Given the description of an element on the screen output the (x, y) to click on. 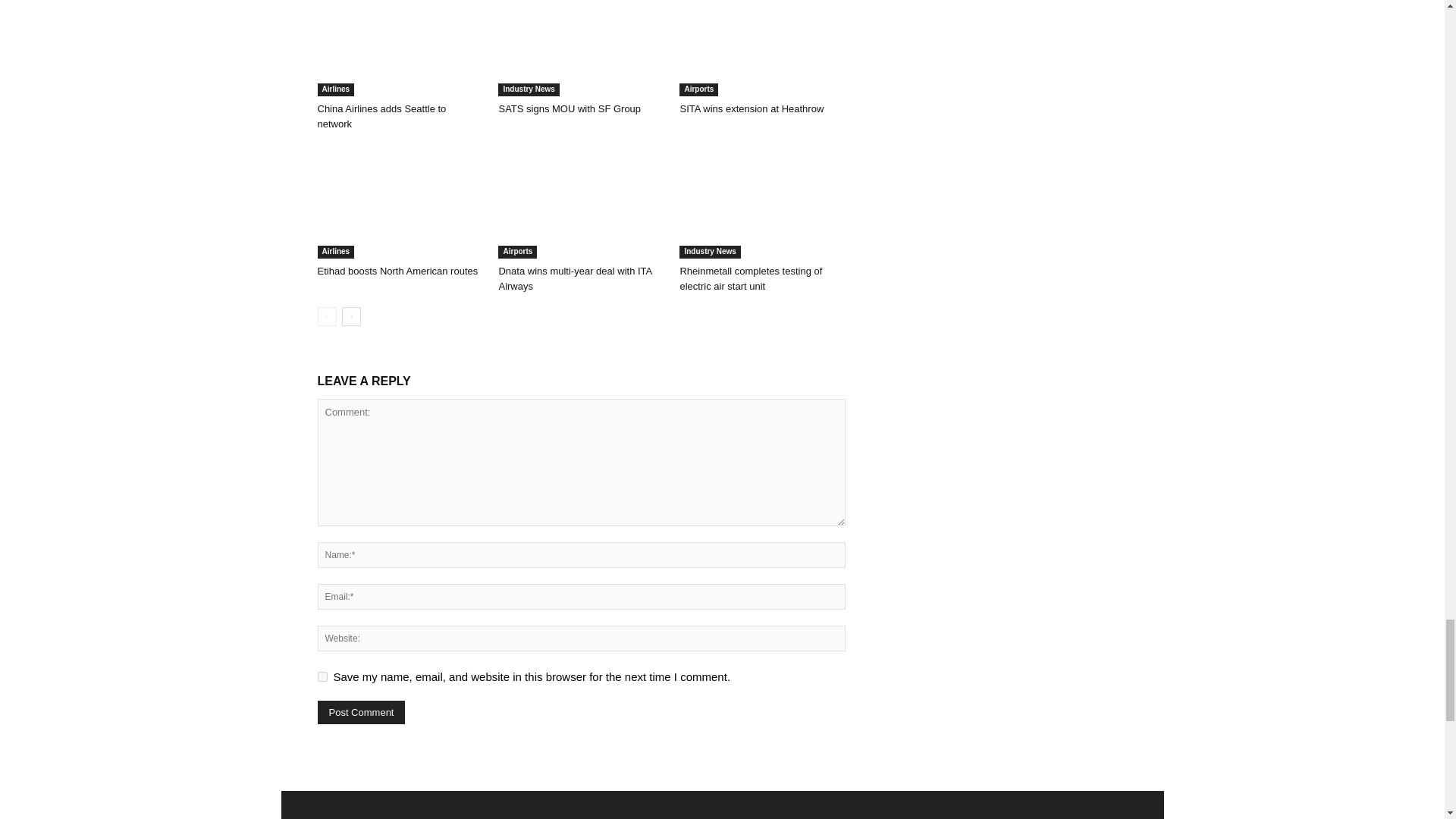
Post Comment (360, 712)
yes (321, 676)
